Given the description of an element on the screen output the (x, y) to click on. 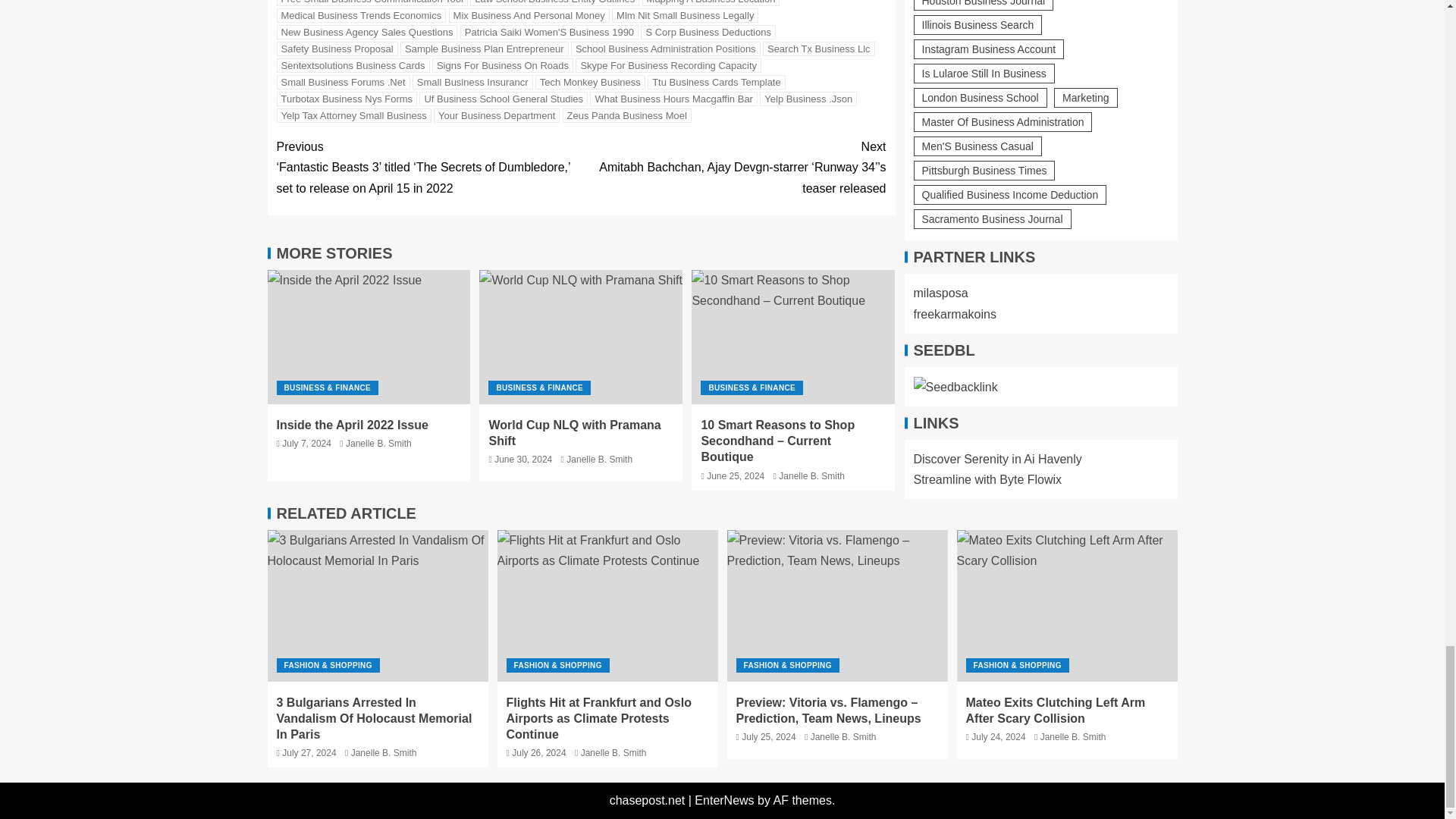
Inside the April 2022 Issue (368, 337)
World Cup NLQ with Pramana Shift (580, 337)
